Given the description of an element on the screen output the (x, y) to click on. 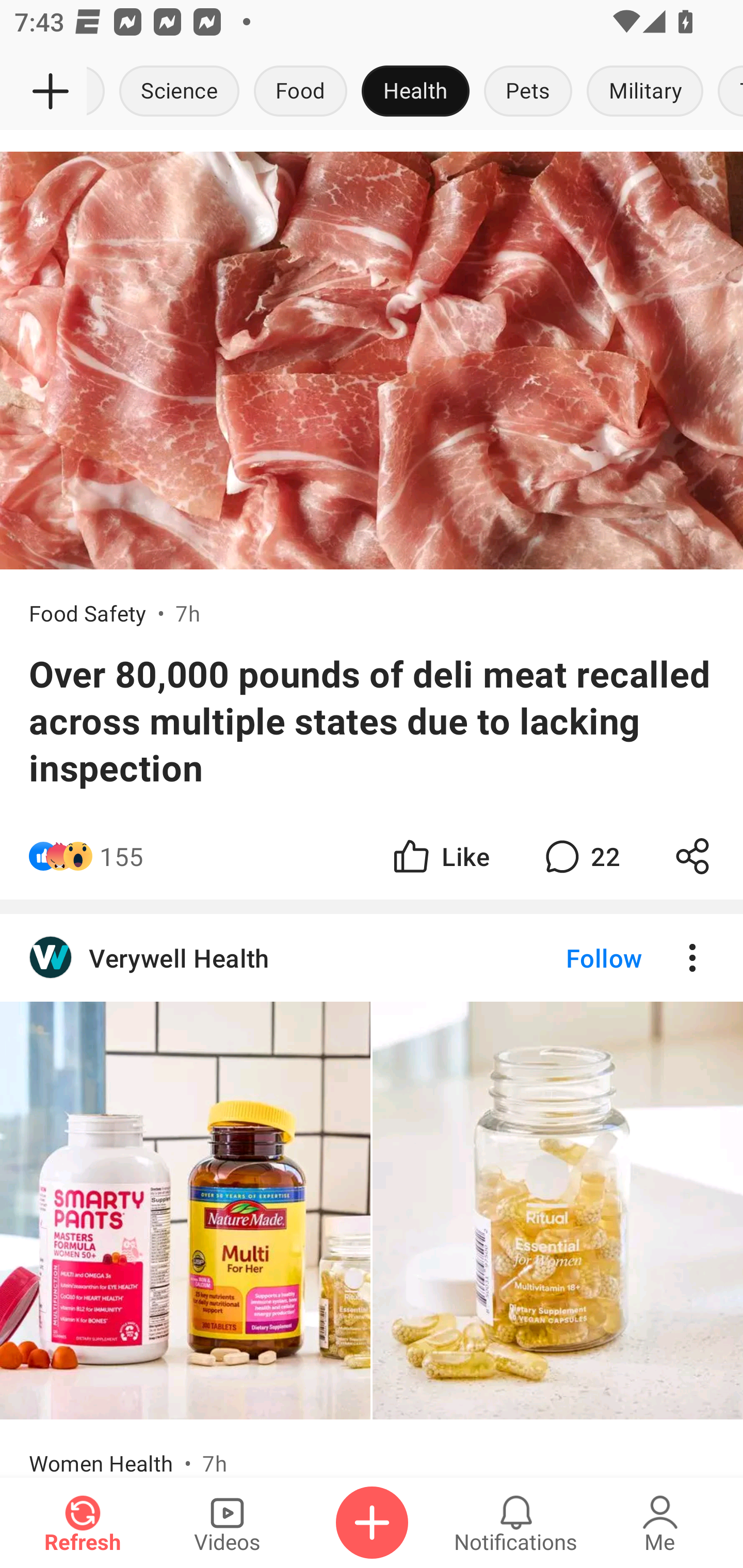
Science (179, 91)
Food (300, 91)
Health (415, 91)
Pets (528, 91)
Military (644, 91)
Follow (371, 141)
Follow (569, 141)
155 (121, 856)
Like (439, 856)
22 (579, 856)
Verywell Health Follow Women Health   •  7h (371, 1195)
Verywell Health Follow (371, 957)
Follow (569, 957)
Videos (227, 1522)
Notifications (516, 1522)
Me (659, 1522)
